Given the description of an element on the screen output the (x, y) to click on. 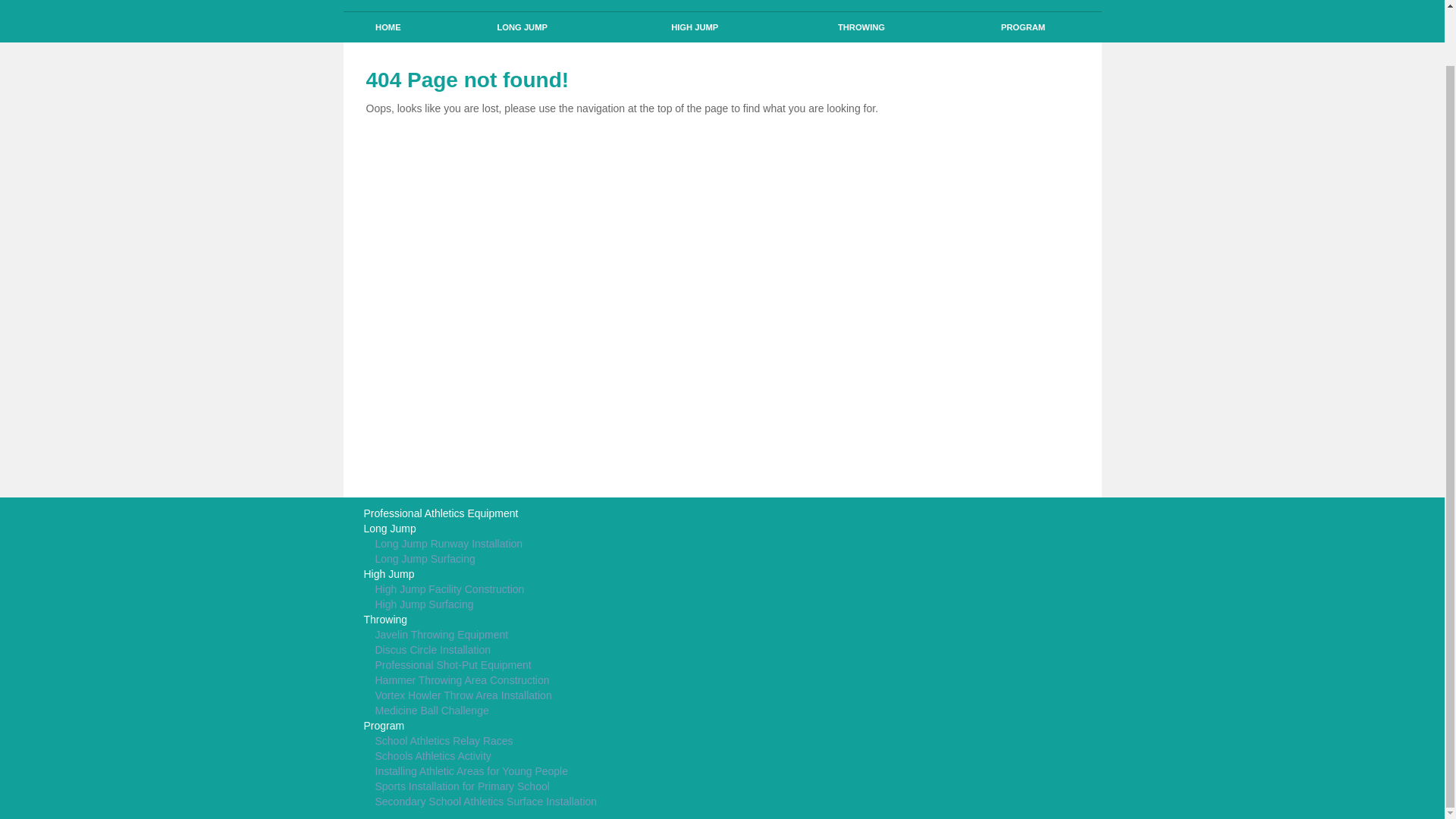
Long Jump (599, 529)
Throwing (599, 620)
PROGRAM (1023, 27)
Professional Athletics Equipment (599, 513)
Long Jump Surfacing (599, 559)
LONG JUMP (521, 27)
HIGH JUMP (694, 27)
THROWING (860, 27)
Vortex Howler Throw Area Installation (599, 695)
Hammer Throwing Area Construction (599, 680)
Professional Shot-Put Equipment (599, 665)
High Jump Surfacing (599, 604)
High Jump (599, 574)
Javelin Throwing Equipment (599, 635)
Long Jump Runway Installation (599, 544)
